Given the description of an element on the screen output the (x, y) to click on. 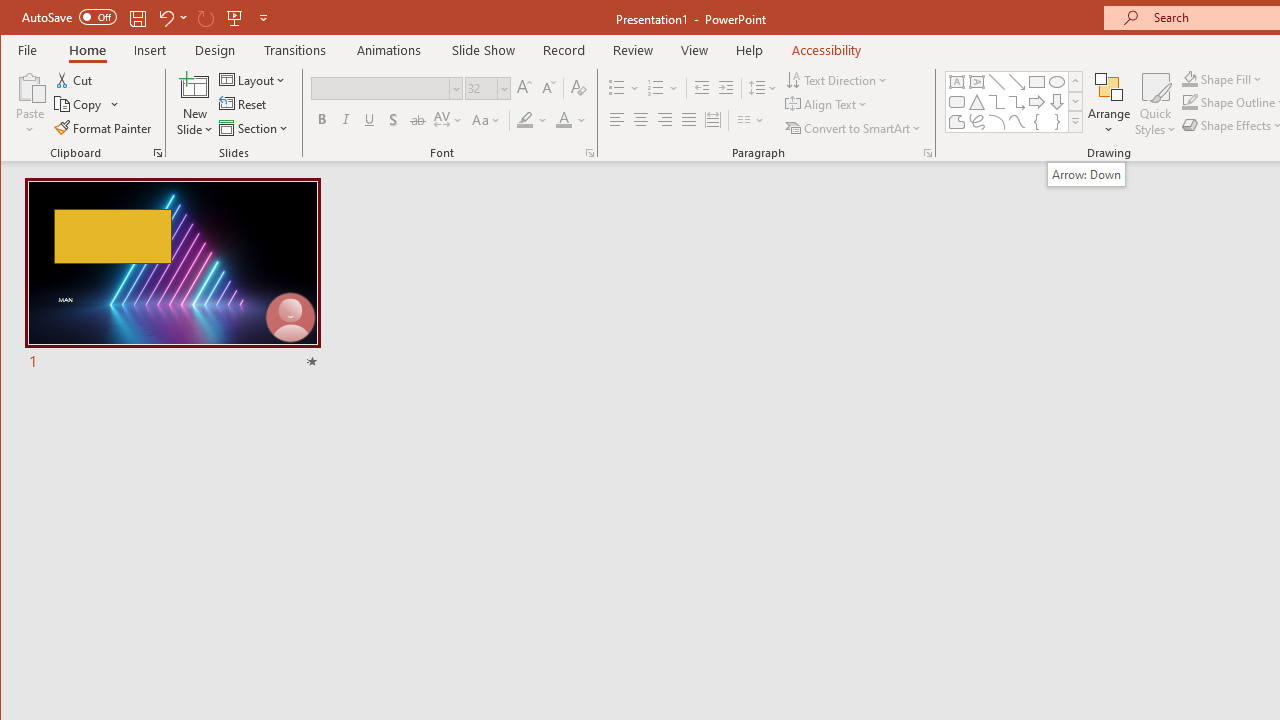
Shadow (393, 119)
Change Case (486, 119)
Right Brace (1057, 121)
